Given the description of an element on the screen output the (x, y) to click on. 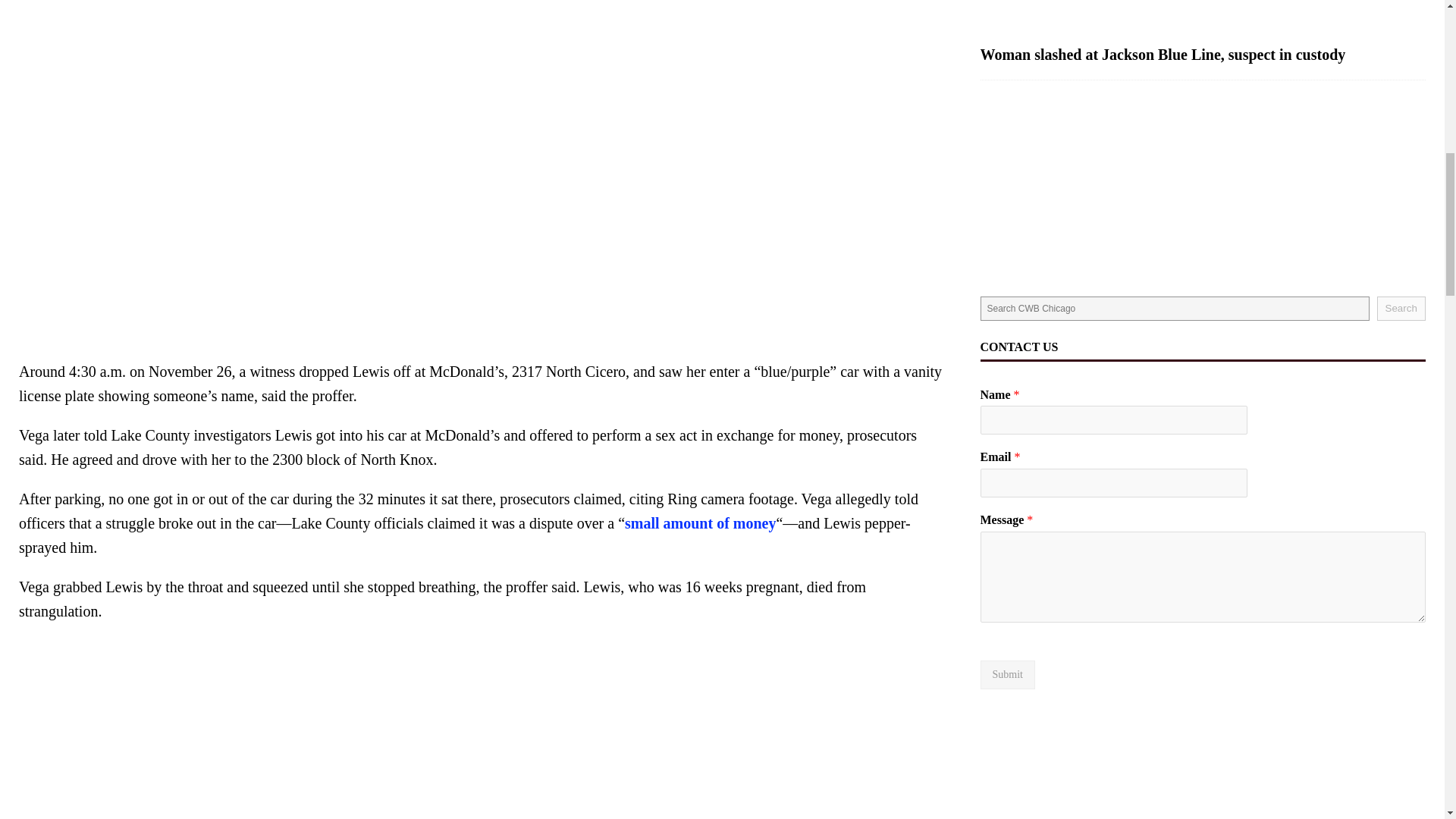
Woman slashed at Jackson Blue Line, suspect in custody (1162, 54)
small amount of money (700, 523)
Woman slashed at Jackson Blue Line, suspect in custody (1202, 18)
Search (1401, 308)
Woman slashed at Jackson Blue Line, suspect in custody (1162, 54)
Submit (1007, 674)
